Given the description of an element on the screen output the (x, y) to click on. 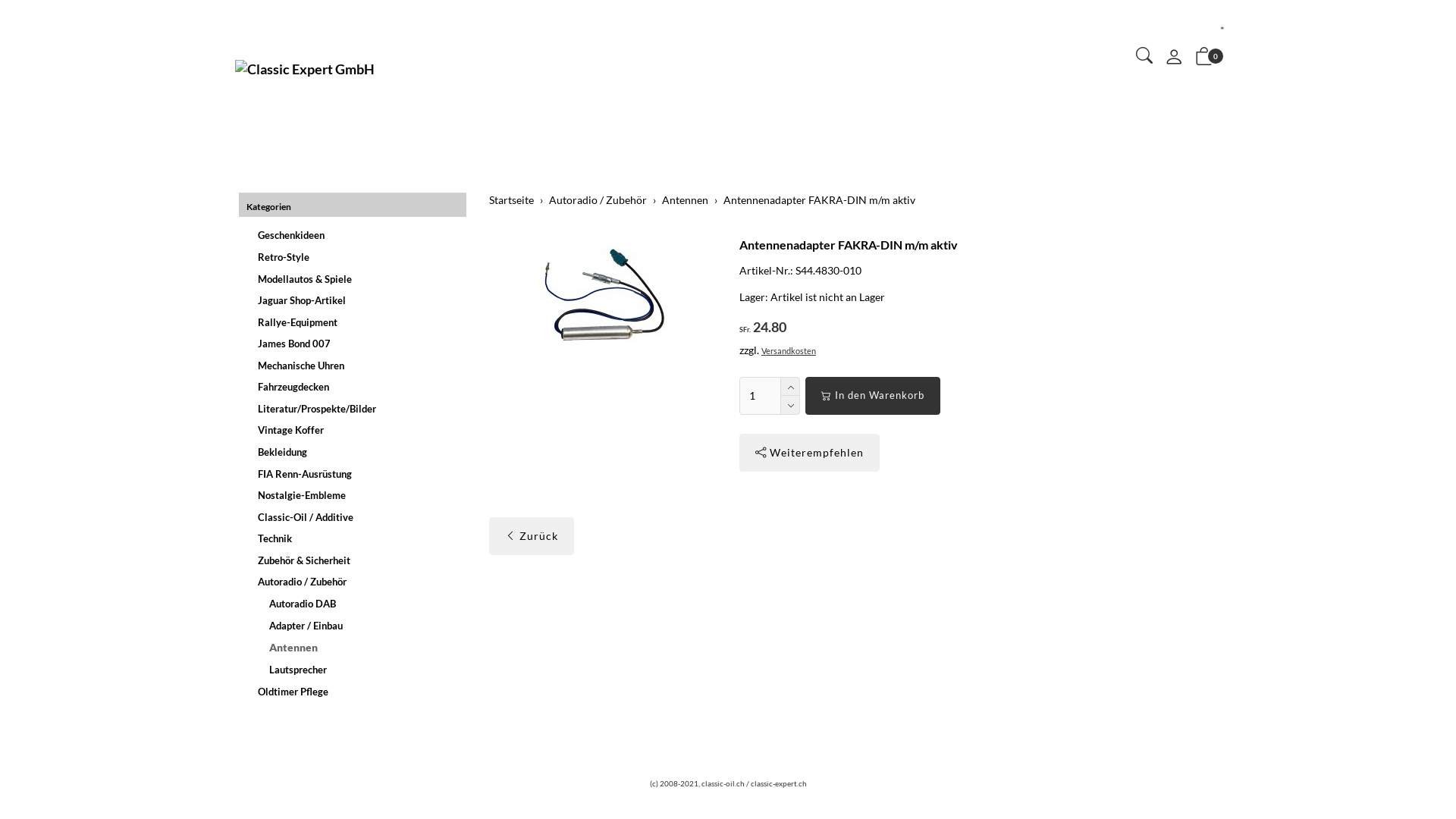
Modellautos & Spiele Element type: text (354, 279)
Rallye-Equipment Element type: text (354, 322)
In den Warenkorb Element type: text (872, 395)
* Element type: text (1222, 29)
Vintage Koffer Element type: text (354, 430)
James Bond 007 Element type: text (354, 343)
Literatur/Prospekte/Bilder Element type: text (354, 409)
0 Element type: text (1204, 58)
Antennen Element type: text (354, 647)
Versandkosten Element type: text (788, 350)
Mein Konto Element type: hover (1173, 59)
Geschenkideen Element type: text (354, 235)
Classic-Oil / Additive Element type: text (354, 517)
Autoradio DAB Element type: text (354, 604)
Bekleidung Element type: text (354, 452)
Antennen Element type: text (685, 199)
Nostalgie-Embleme Element type: text (354, 495)
Mechanische Uhren Element type: text (354, 365)
Weiterempfehlen Element type: text (809, 452)
Menge Element type: hover (760, 395)
Retro-Style Element type: text (354, 257)
Startseite Element type: text (511, 199)
Fahrzeugdecken Element type: text (354, 387)
Oldtimer Pflege Element type: text (354, 691)
Lautsprecher Element type: text (354, 669)
Adapter / Einbau Element type: text (354, 625)
Technik Element type: text (354, 538)
Suche Element type: hover (1143, 56)
Jaguar Shop-Artikel Element type: text (354, 300)
